Given the description of an element on the screen output the (x, y) to click on. 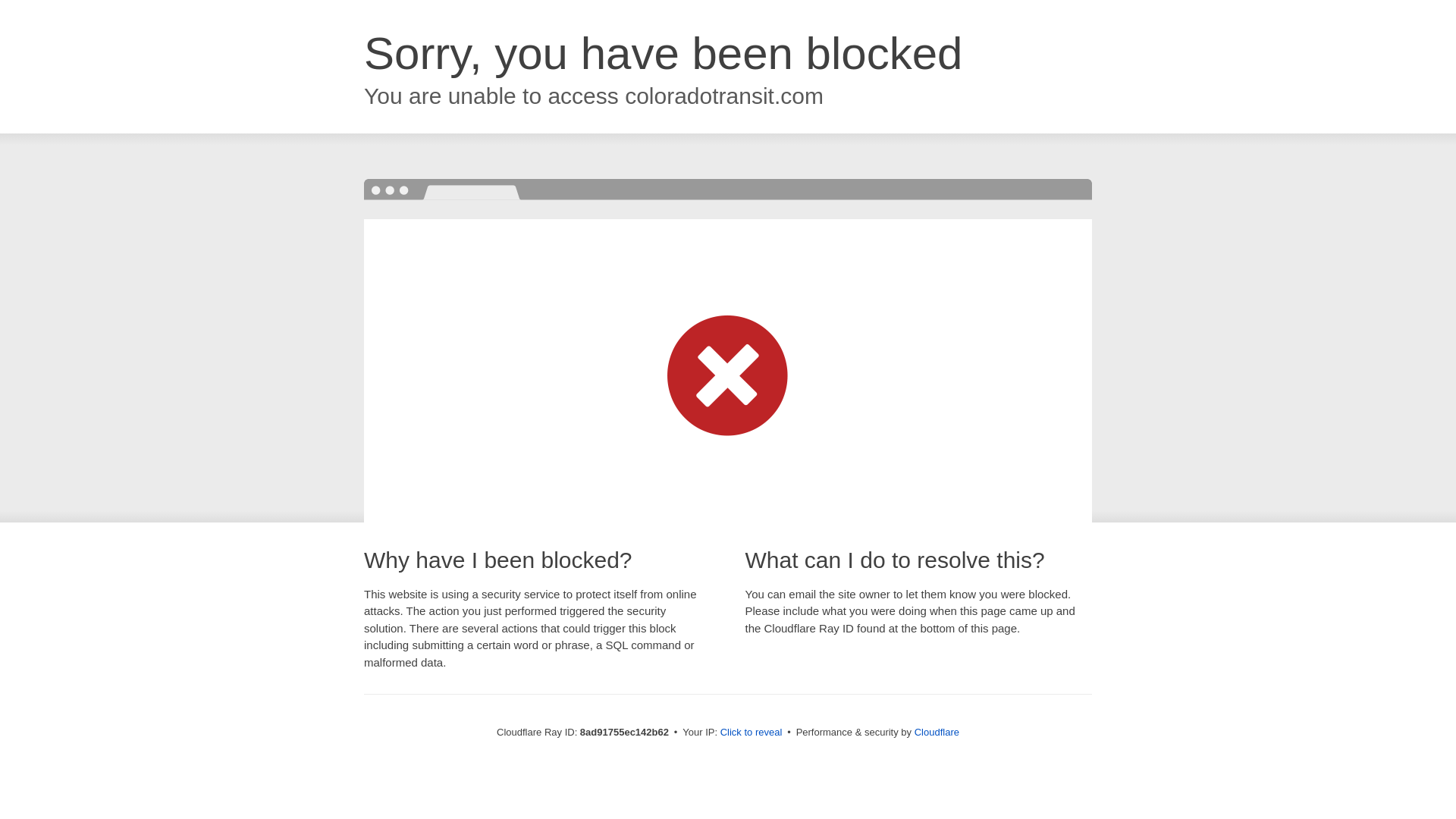
Cloudflare (936, 731)
Click to reveal (751, 732)
